Given the description of an element on the screen output the (x, y) to click on. 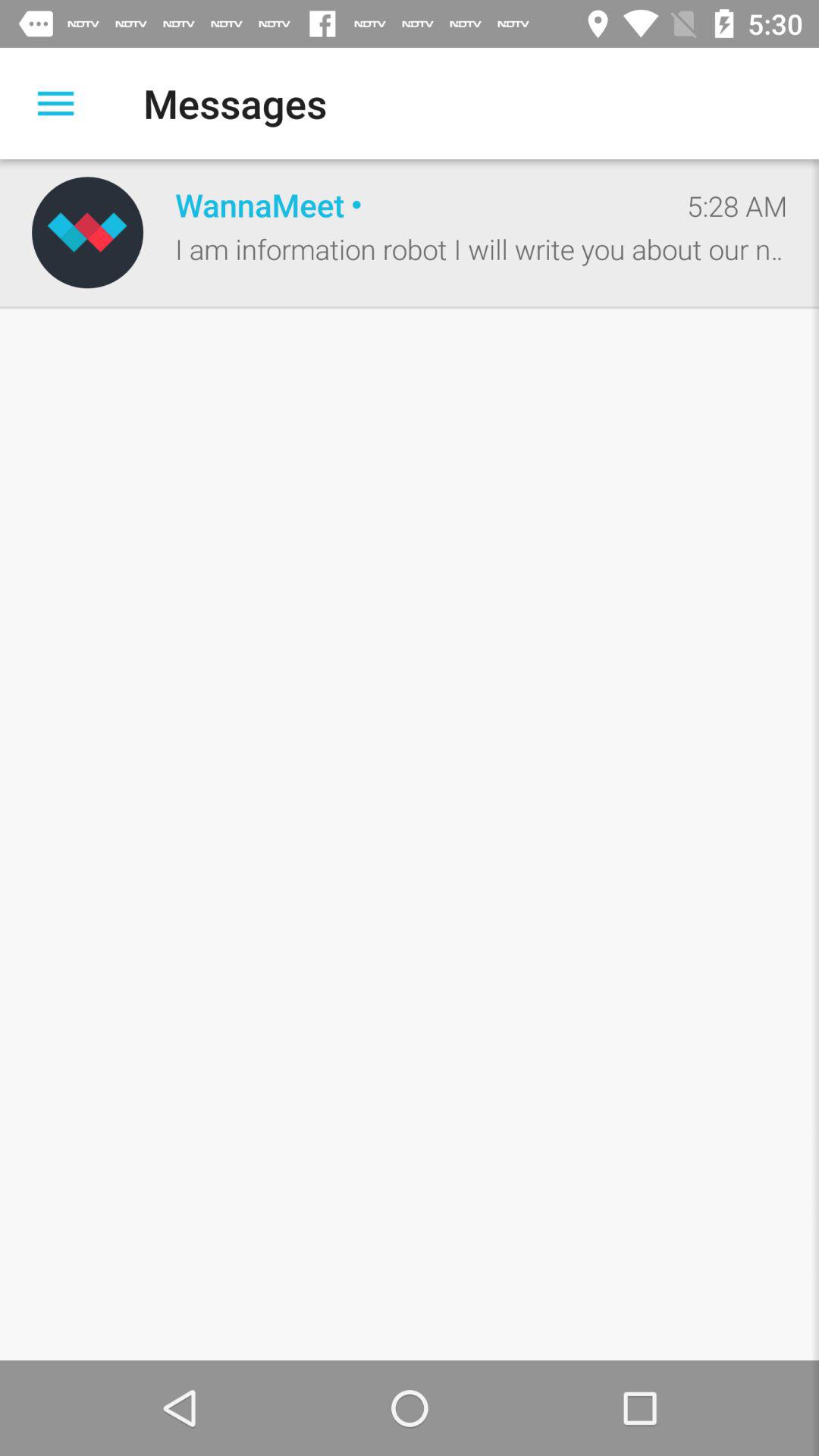
choose the item next to the wannameet   item (87, 232)
